Given the description of an element on the screen output the (x, y) to click on. 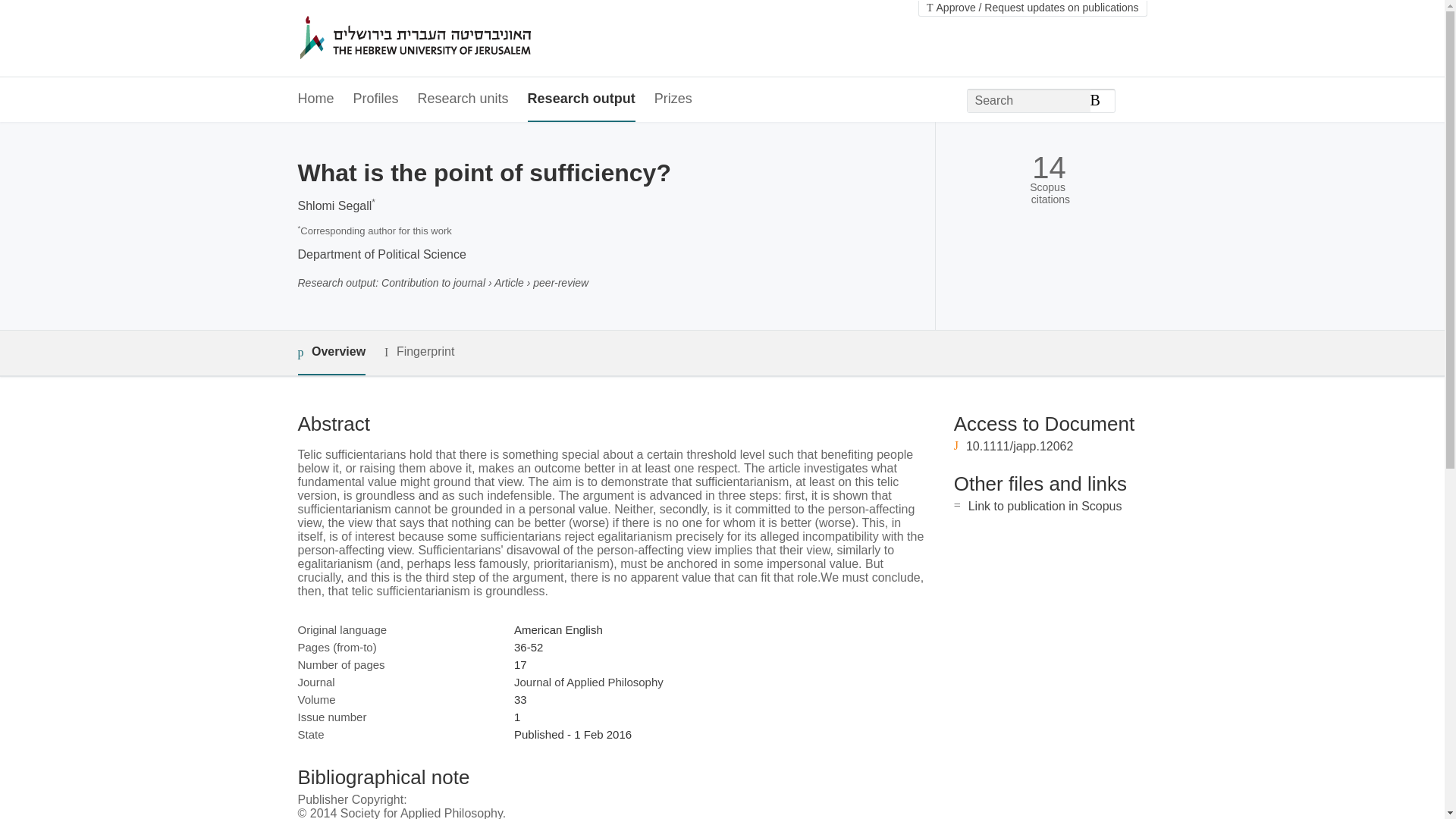
The Hebrew University of Jerusalem Home (447, 38)
Shlomi Segall (334, 205)
Research output (580, 99)
Profiles (375, 99)
Overview (331, 352)
Journal of Applied Philosophy (588, 681)
Research units (462, 99)
Link to publication in Scopus (1045, 505)
Department of Political Science (381, 254)
Fingerprint (419, 351)
